Given the description of an element on the screen output the (x, y) to click on. 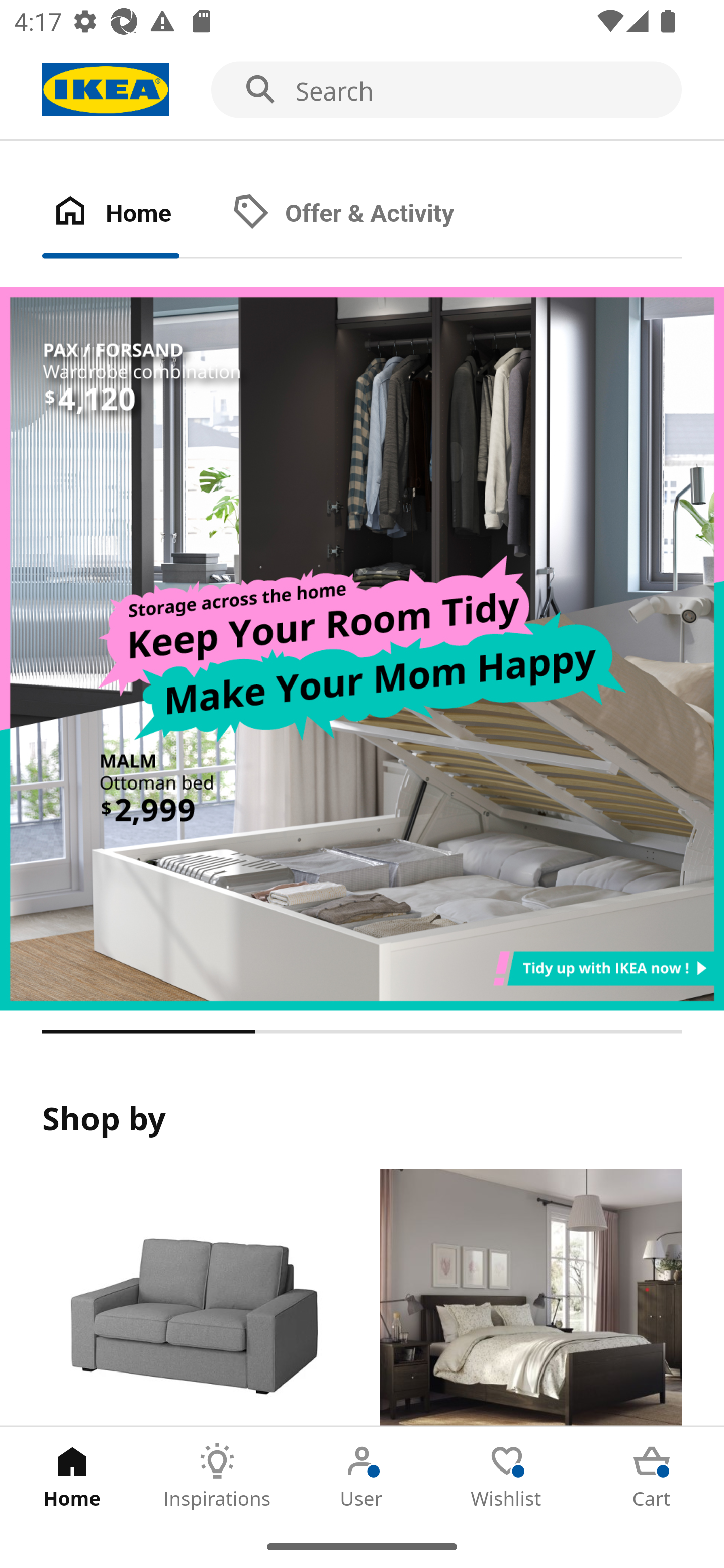
Search (361, 90)
Home
Tab 1 of 2 (131, 213)
Offer & Activity
Tab 2 of 2 (363, 213)
Products (192, 1297)
Rooms (530, 1297)
Home
Tab 1 of 5 (72, 1476)
Inspirations
Tab 2 of 5 (216, 1476)
User
Tab 3 of 5 (361, 1476)
Wishlist
Tab 4 of 5 (506, 1476)
Cart
Tab 5 of 5 (651, 1476)
